Given the description of an element on the screen output the (x, y) to click on. 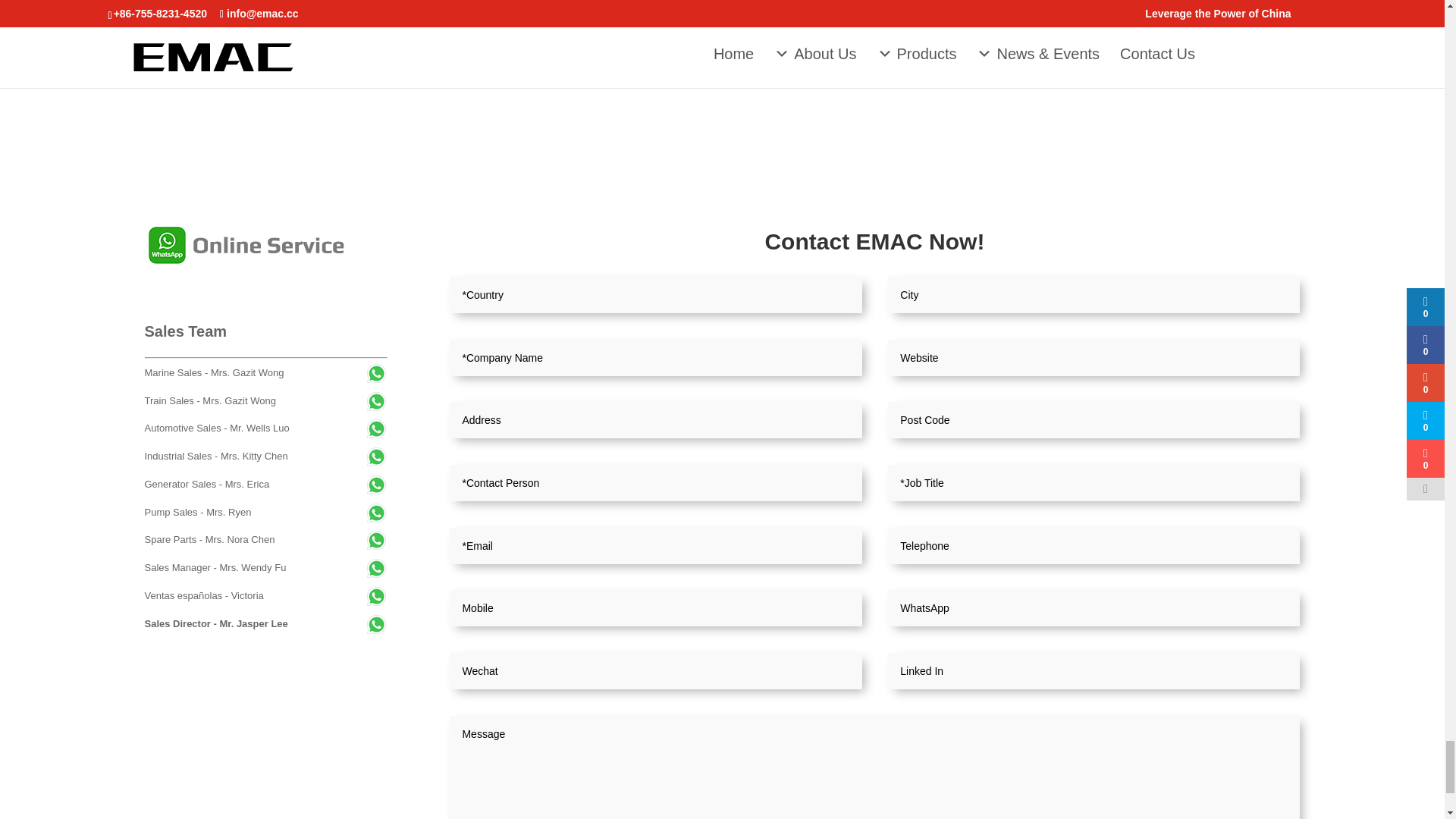
WhatsApp-Online-logo-4 (257, 244)
